Given the description of an element on the screen output the (x, y) to click on. 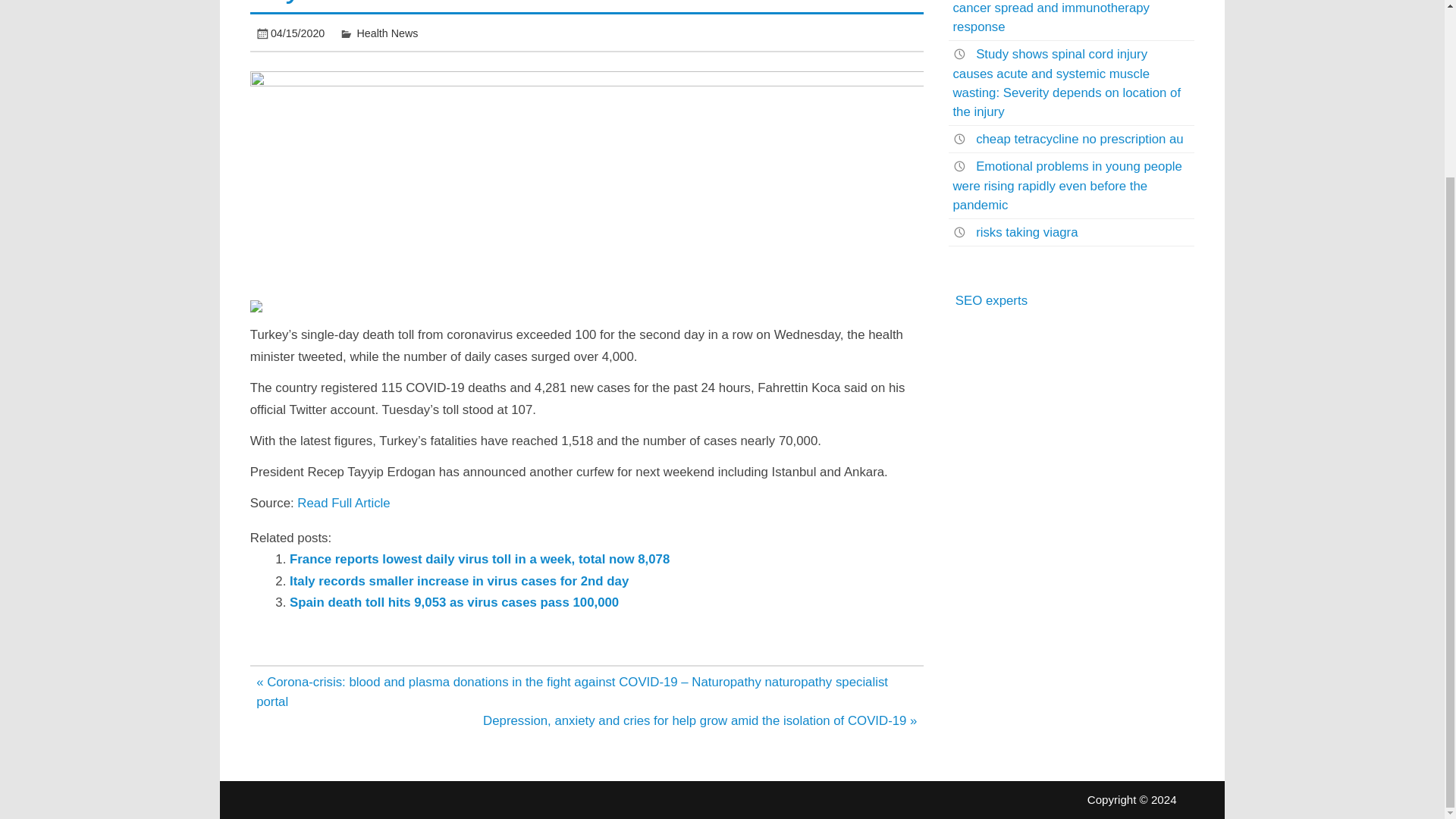
Spain death toll hits 9,053 as virus cases pass 100,000 (453, 602)
risks taking viagra (1026, 232)
Italy records smaller increase in virus cases for 2nd day (458, 581)
Spain death toll hits 9,053 as virus cases pass 100,000 (453, 602)
Italy records smaller increase in virus cases for 2nd day (458, 581)
SEO experts (991, 300)
Health News (387, 33)
